Given the description of an element on the screen output the (x, y) to click on. 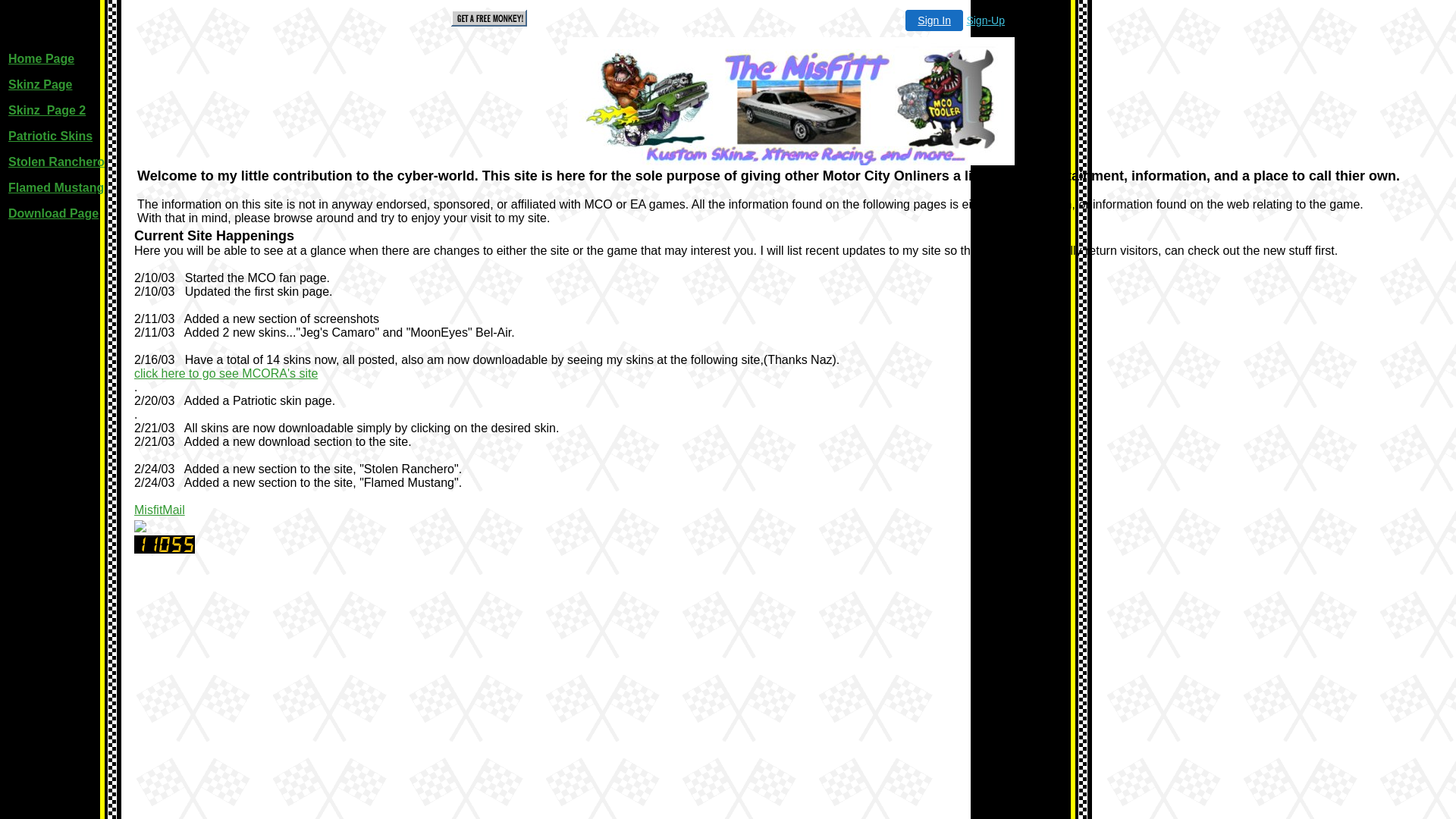
MisfitMail Element type: text (159, 509)
Skinz Page Element type: text (40, 84)
Skinz  Page 2 Element type: text (46, 109)
Stolen Ranchero Element type: text (56, 161)
Sign In Element type: text (934, 20)
Patriotic Skins Element type: text (50, 135)
Download Page Element type: text (53, 213)
Sign-Up Element type: text (985, 20)
Home Page Element type: text (41, 58)
click here to go see MCORA's site Element type: text (225, 373)
Flamed Mustang Element type: text (55, 187)
